Given the description of an element on the screen output the (x, y) to click on. 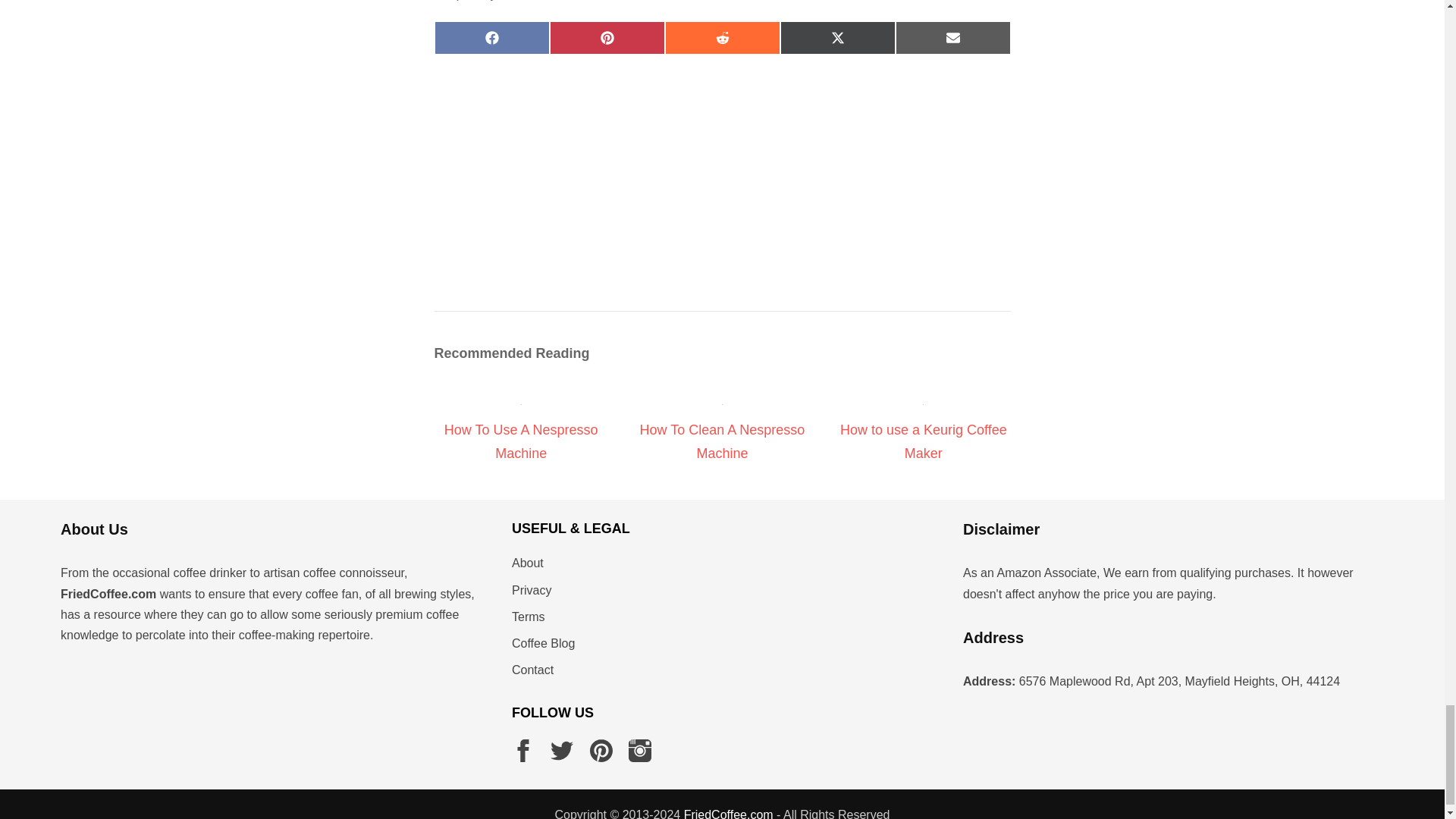
Friedcoffee at Twitter. (561, 750)
Friedcoffee at Pinterest. (600, 750)
Friedcoffee.com (728, 813)
Our Instagram Page. (639, 750)
Friedcoffee page at Facebook. (523, 750)
